Given the description of an element on the screen output the (x, y) to click on. 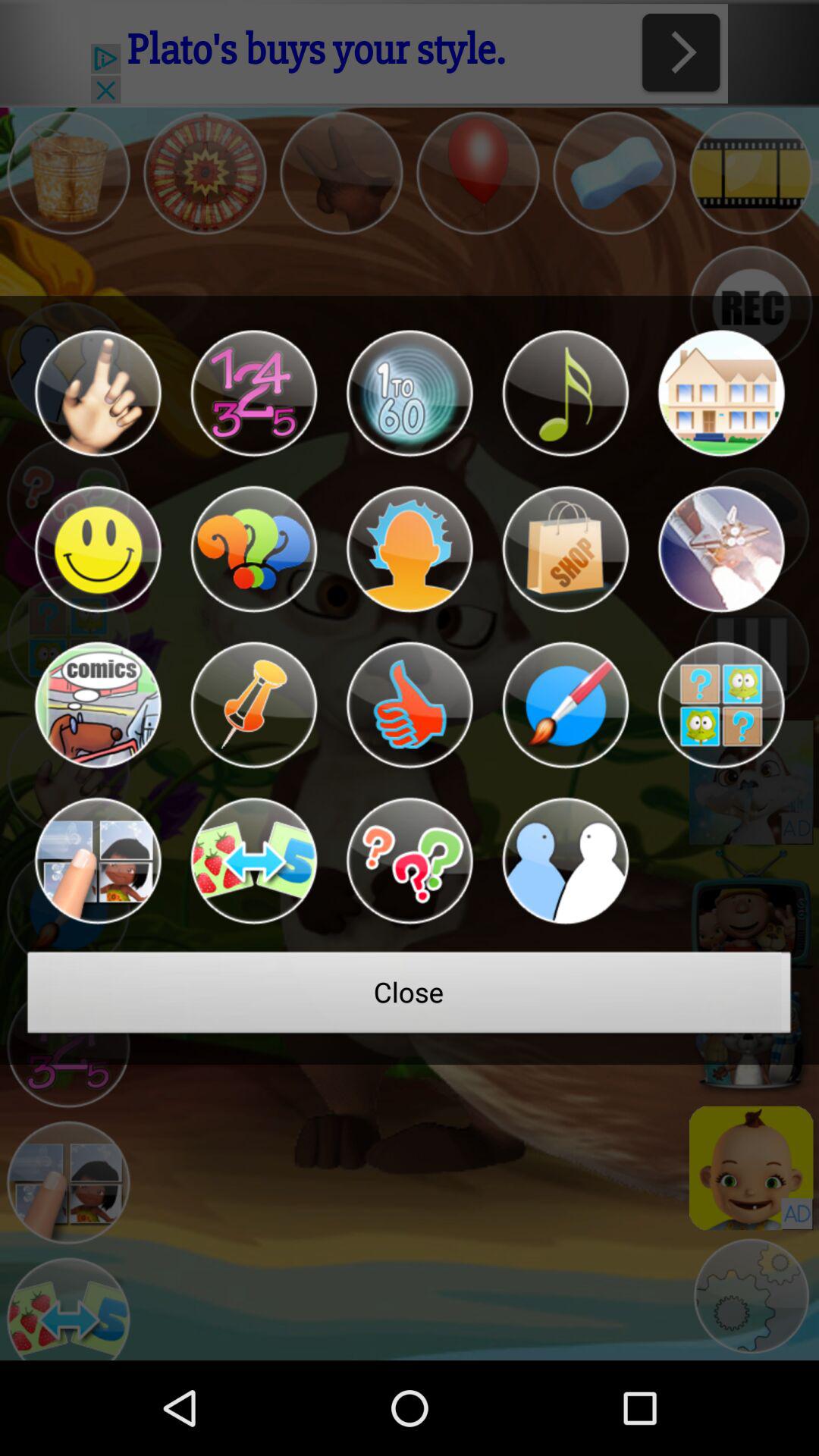
go to music (565, 393)
